Given the description of an element on the screen output the (x, y) to click on. 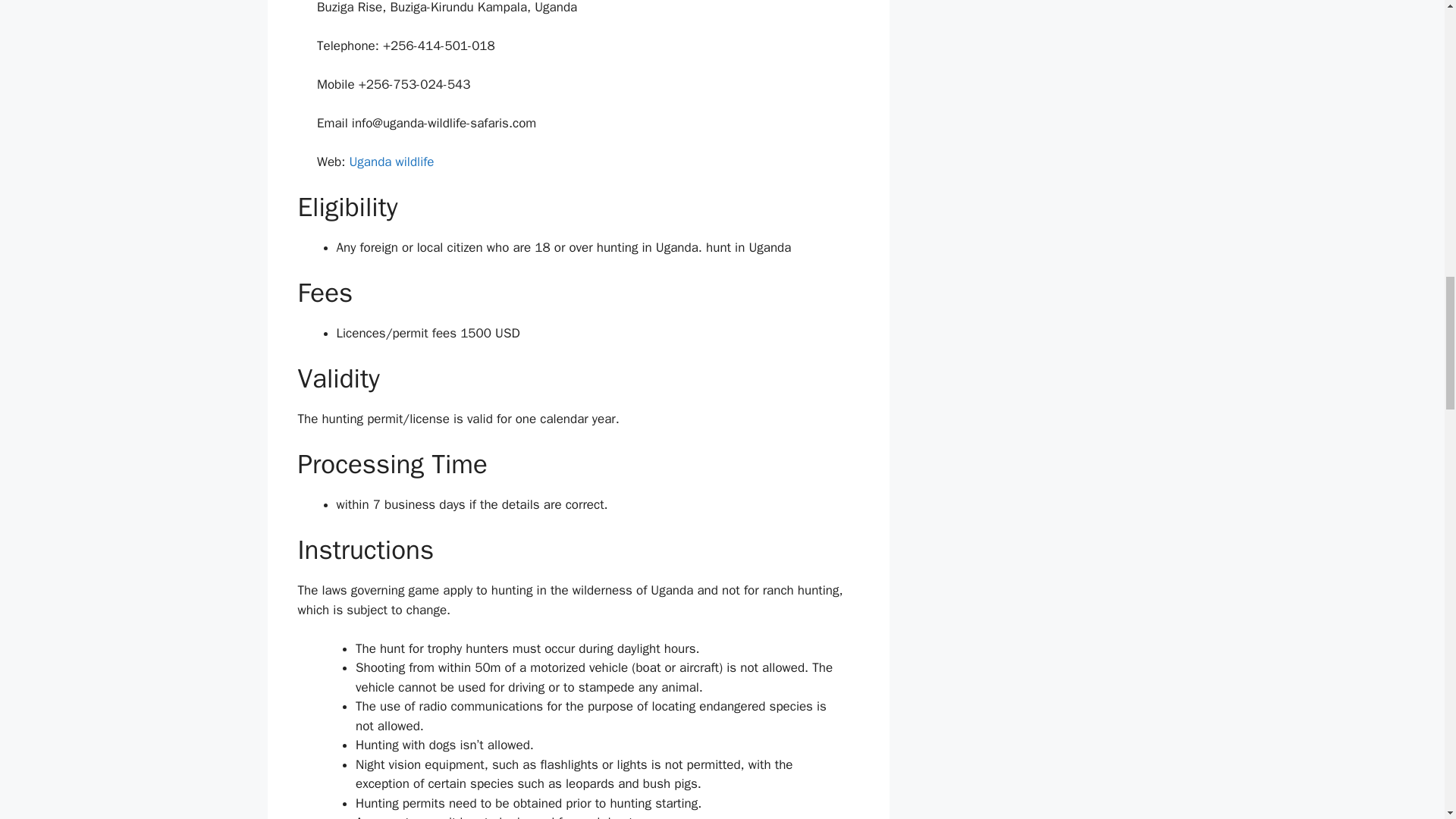
Uganda wildlife (391, 161)
